Given the description of an element on the screen output the (x, y) to click on. 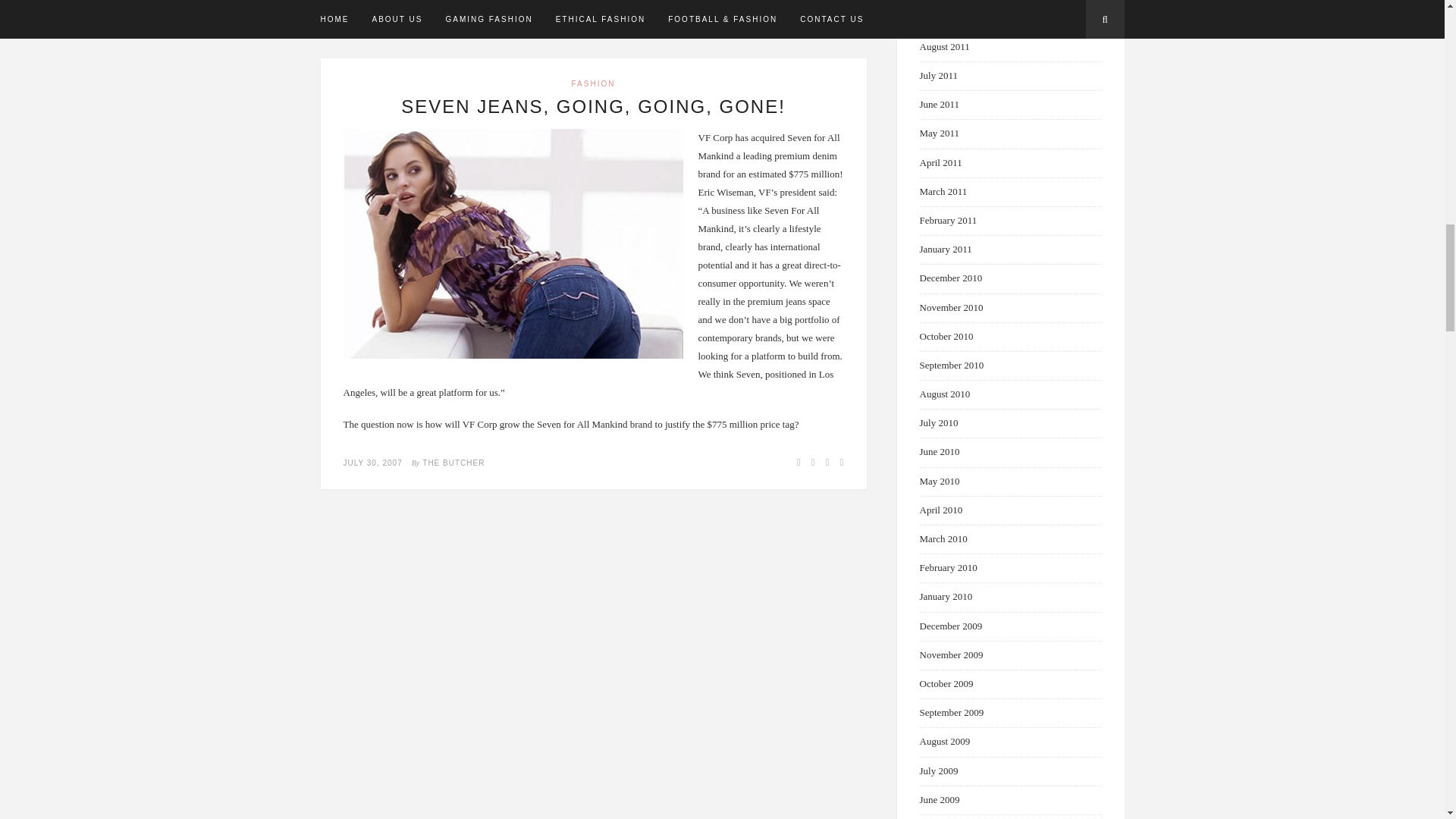
SEVEN JEANS, GOING, GOING, GONE! (593, 106)
Posts by The Butcher (453, 462)
FASHION (593, 83)
THE BUTCHER (453, 462)
